Given the description of an element on the screen output the (x, y) to click on. 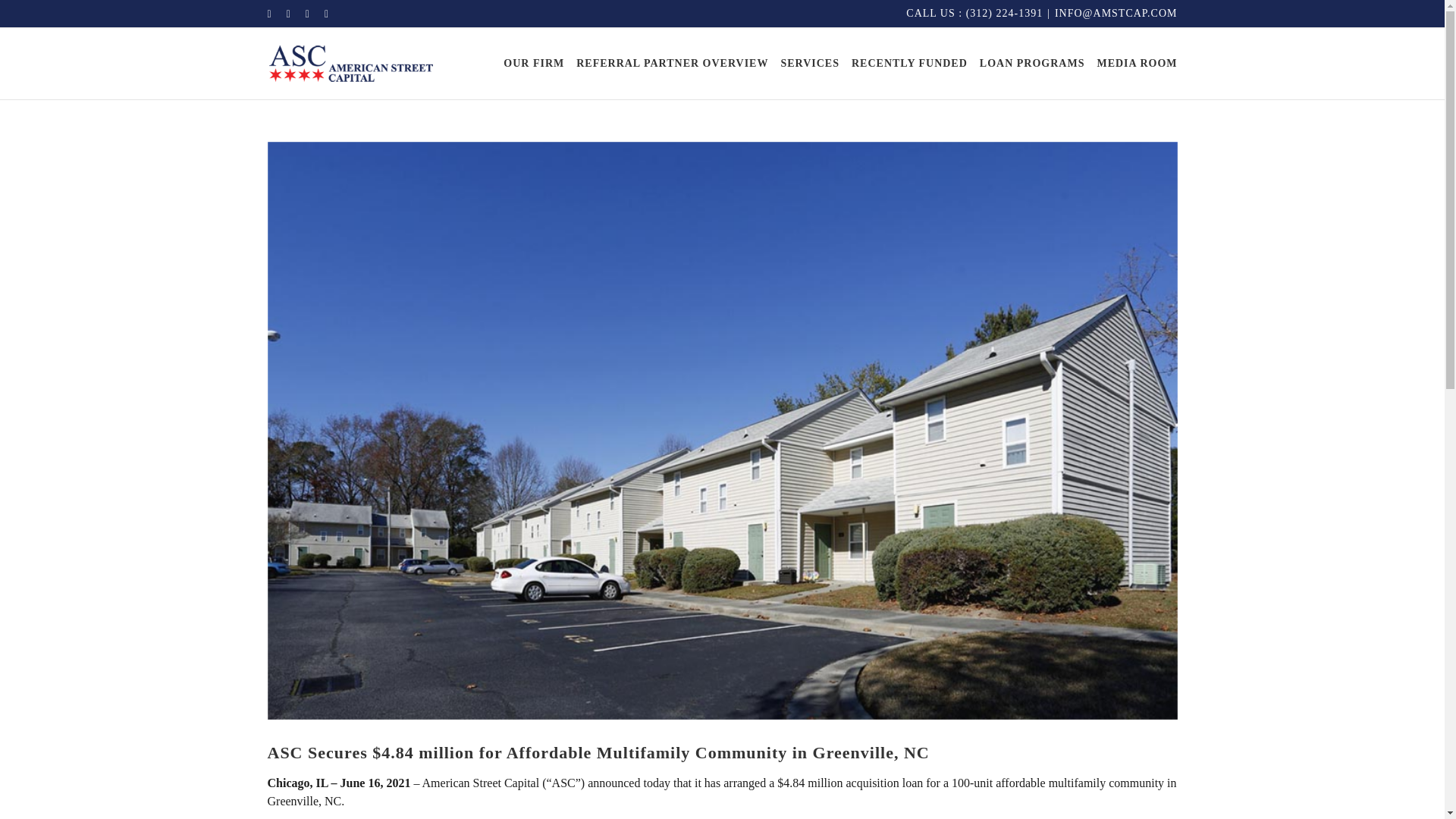
Facebook (268, 14)
REFERRAL PARTNER OVERVIEW (672, 63)
LinkedIn (326, 14)
MEDIA ROOM (1136, 63)
LOAN PROGRAMS (1031, 63)
RECENTLY FUNDED (909, 63)
Facebook (268, 14)
SERVICES (810, 63)
LinkedIn (326, 14)
